Given the description of an element on the screen output the (x, y) to click on. 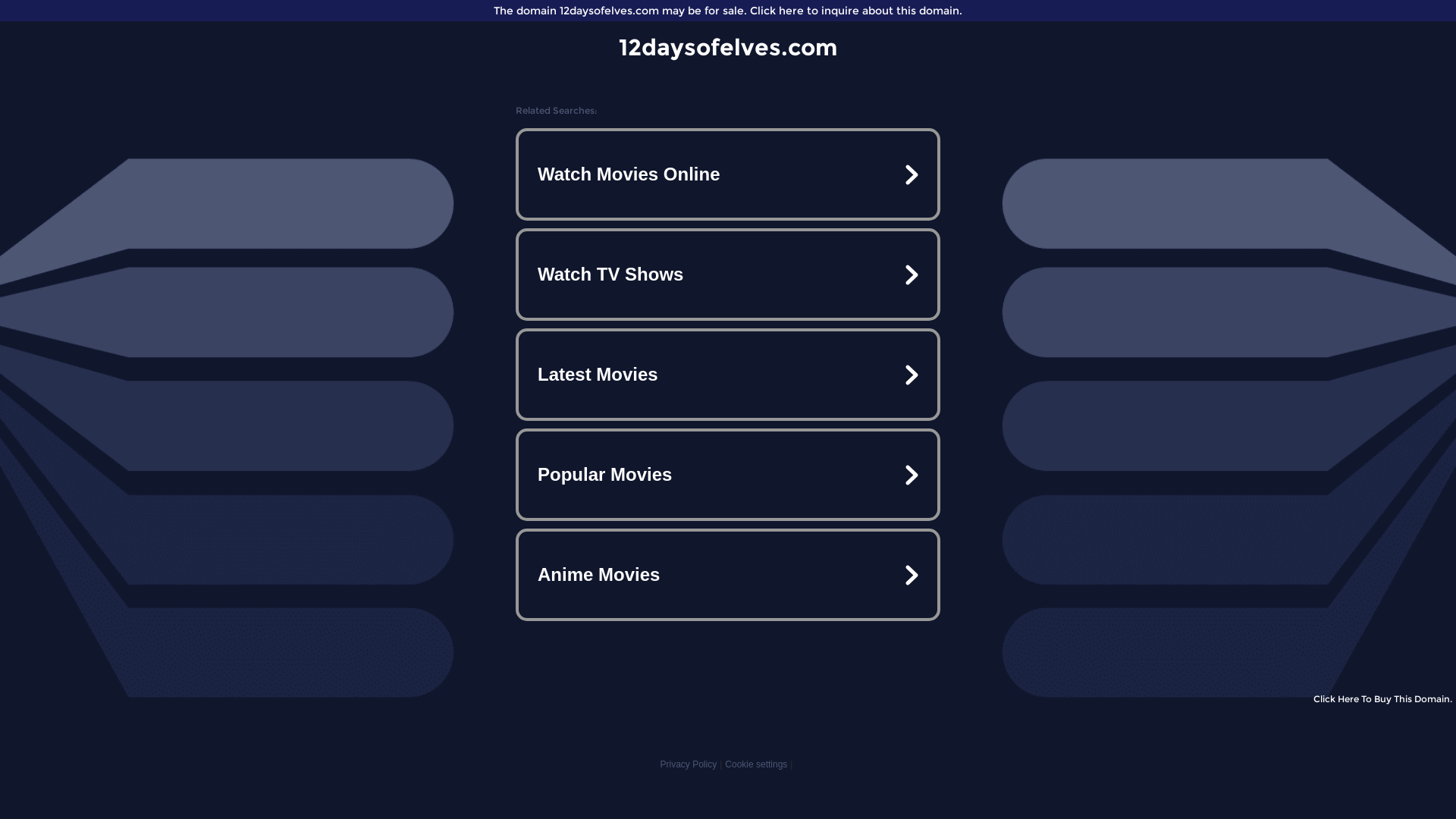
Watch TV Shows Element type: text (727, 274)
Cookie settings Element type: text (755, 764)
12daysofelves.com Element type: text (727, 47)
Click Here To Buy This Domain. Element type: text (1382, 698)
Popular Movies Element type: text (727, 474)
Watch Movies Online Element type: text (727, 174)
Anime Movies Element type: text (727, 574)
Privacy Policy Element type: text (687, 764)
Latest Movies Element type: text (727, 374)
